Given the description of an element on the screen output the (x, y) to click on. 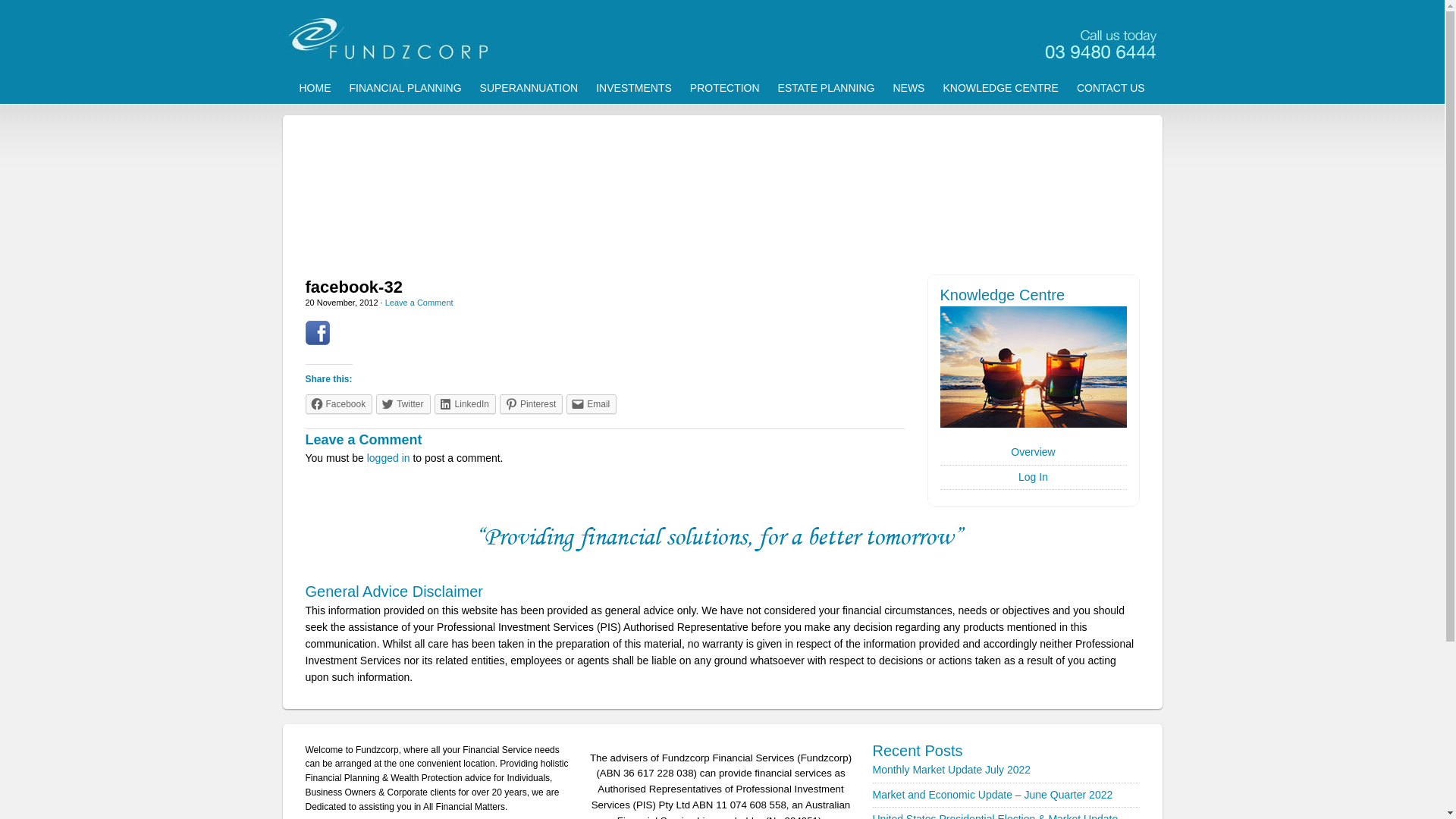
CONTACT US Element type: text (1110, 87)
Pinterest Element type: text (530, 404)
LinkedIn Element type: text (464, 404)
FUNDZCORP Element type: text (721, 37)
Leave a Comment Element type: text (419, 302)
FINANCIAL PLANNING Element type: text (404, 87)
Twitter Element type: text (402, 404)
Facebook Element type: text (338, 404)
ESTATE PLANNING Element type: text (826, 87)
logged in Element type: text (388, 457)
NEWS Element type: text (908, 87)
HOME Element type: text (314, 87)
SUPERANNUATION Element type: text (528, 87)
Log In Element type: text (1033, 476)
Monthly Market Update July 2022 Element type: text (951, 769)
PROTECTION Element type: text (724, 87)
Overview Element type: text (1032, 451)
KNOWLEDGE CENTRE Element type: text (999, 87)
Email Element type: text (591, 404)
INVESTMENTS Element type: text (633, 87)
